Given the description of an element on the screen output the (x, y) to click on. 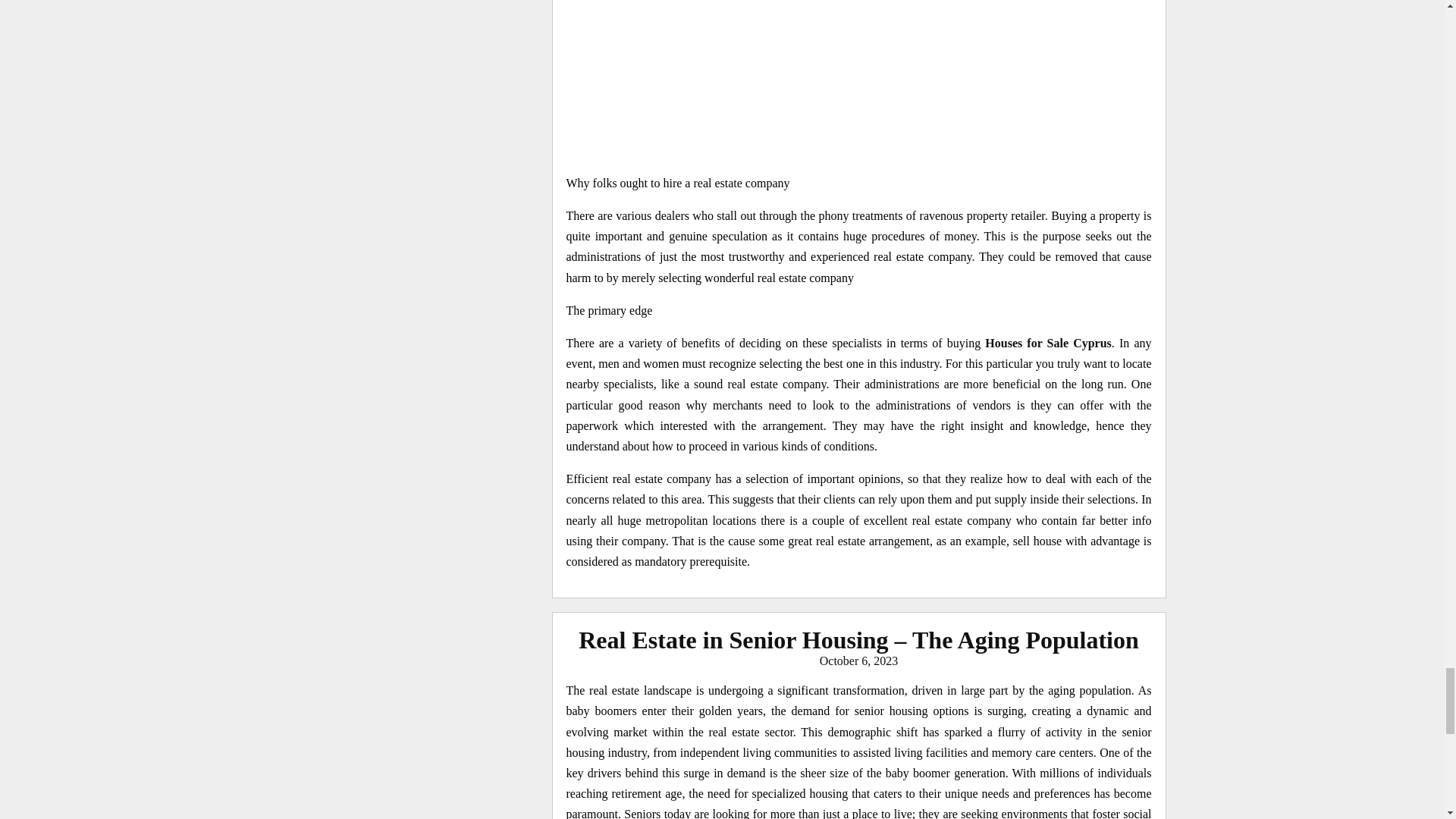
Houses for Sale Cyprus (1048, 342)
October 6, 2023 (858, 660)
